Given the description of an element on the screen output the (x, y) to click on. 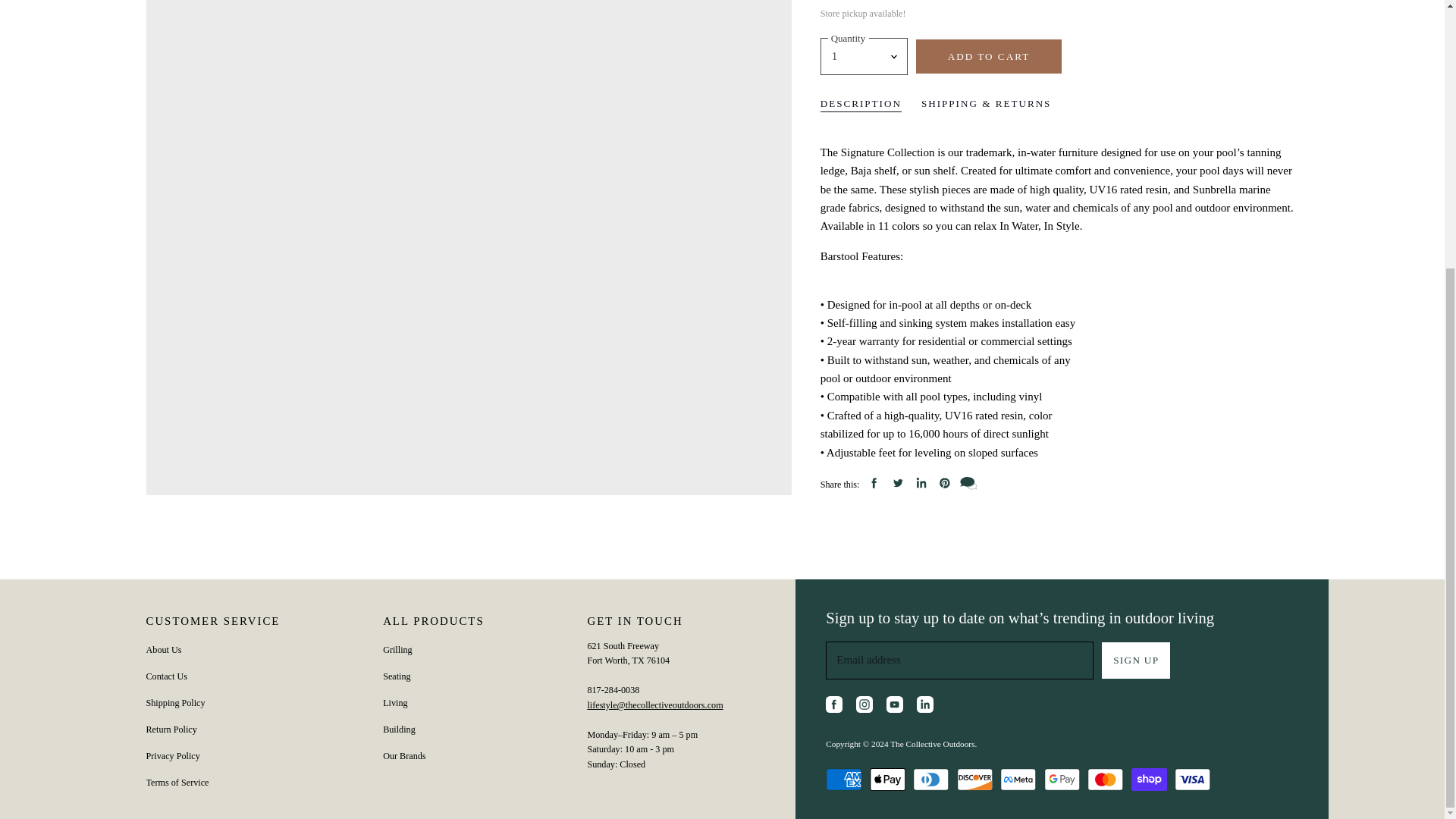
Instagram (866, 706)
LinkedIn (927, 706)
Youtube (897, 706)
Facebook (836, 706)
